Given the description of an element on the screen output the (x, y) to click on. 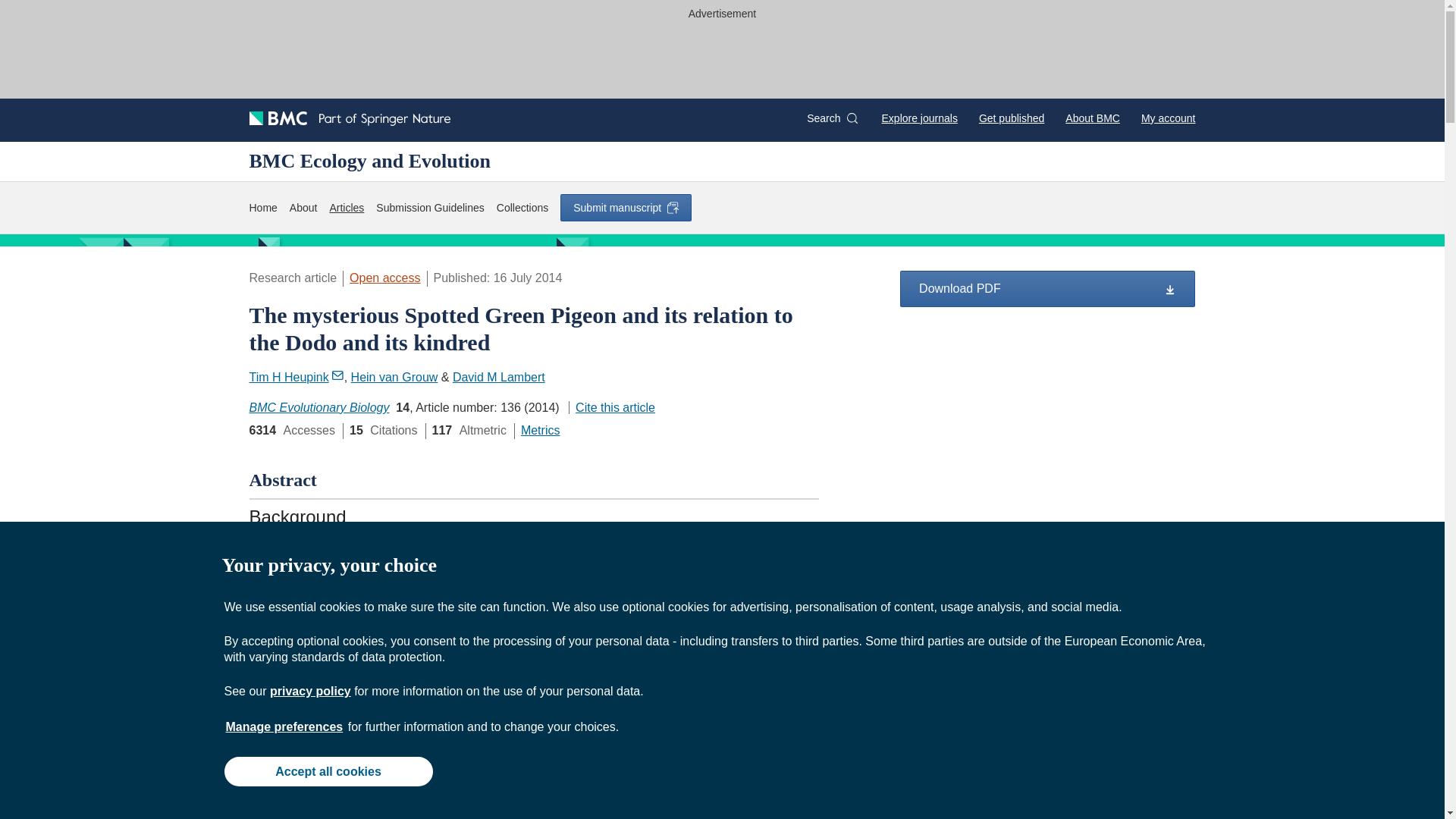
Home (262, 208)
BMC Evolutionary Biology (318, 407)
Tim H Heupink (295, 377)
Get published (1010, 118)
Metrics (540, 430)
BMC Ecology and Evolution (369, 160)
Articles (346, 208)
My account (1168, 118)
privacy policy (309, 690)
Cite this article (612, 407)
